Given the description of an element on the screen output the (x, y) to click on. 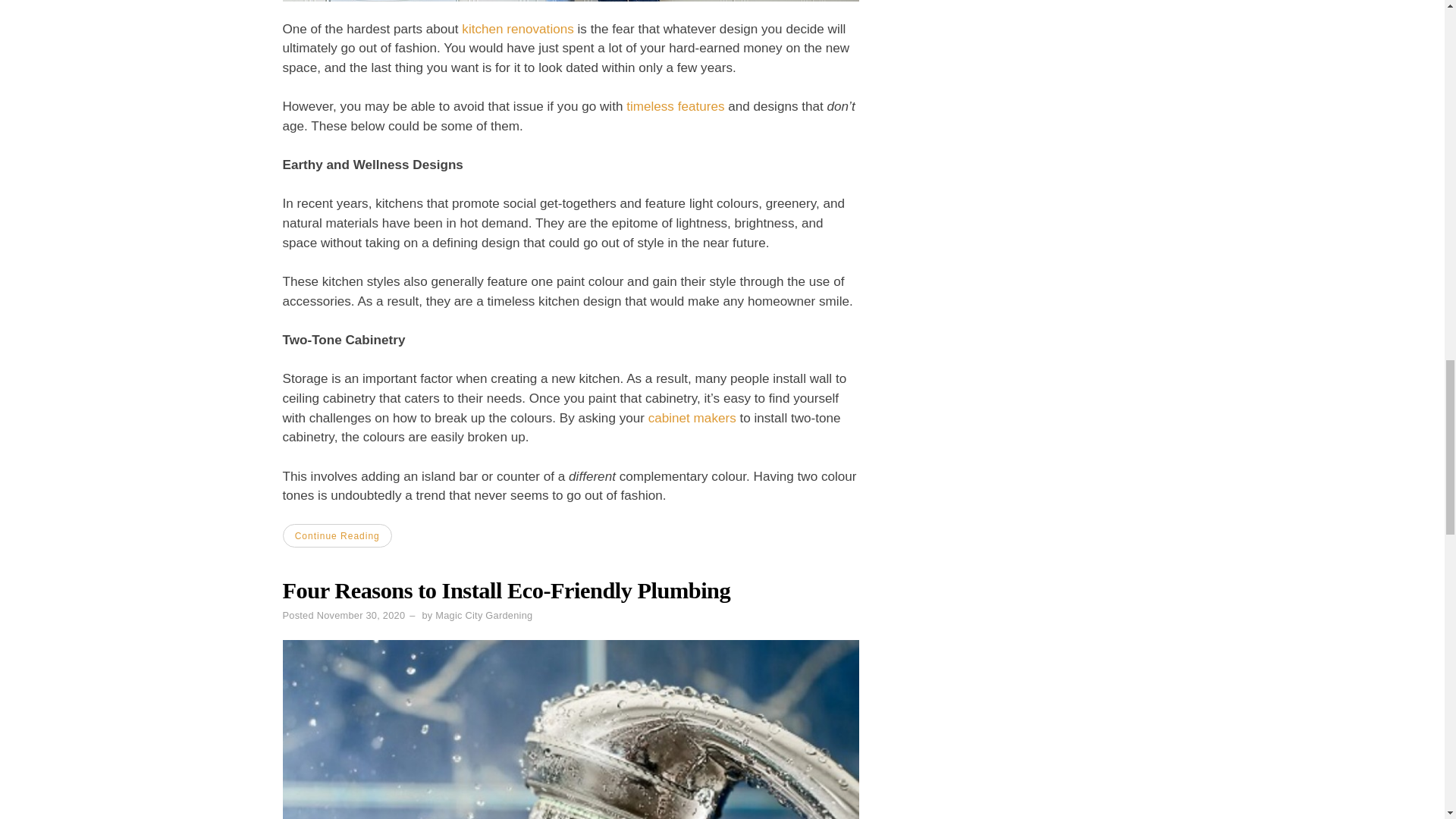
Magic City Gardening (483, 614)
cabinet makers (691, 418)
November 30, 2020 (361, 614)
Four Reasons to Install Eco-Friendly Plumbing (506, 590)
timeless features (674, 106)
kitchen renovations (517, 29)
Continue Reading (336, 535)
